Given the description of an element on the screen output the (x, y) to click on. 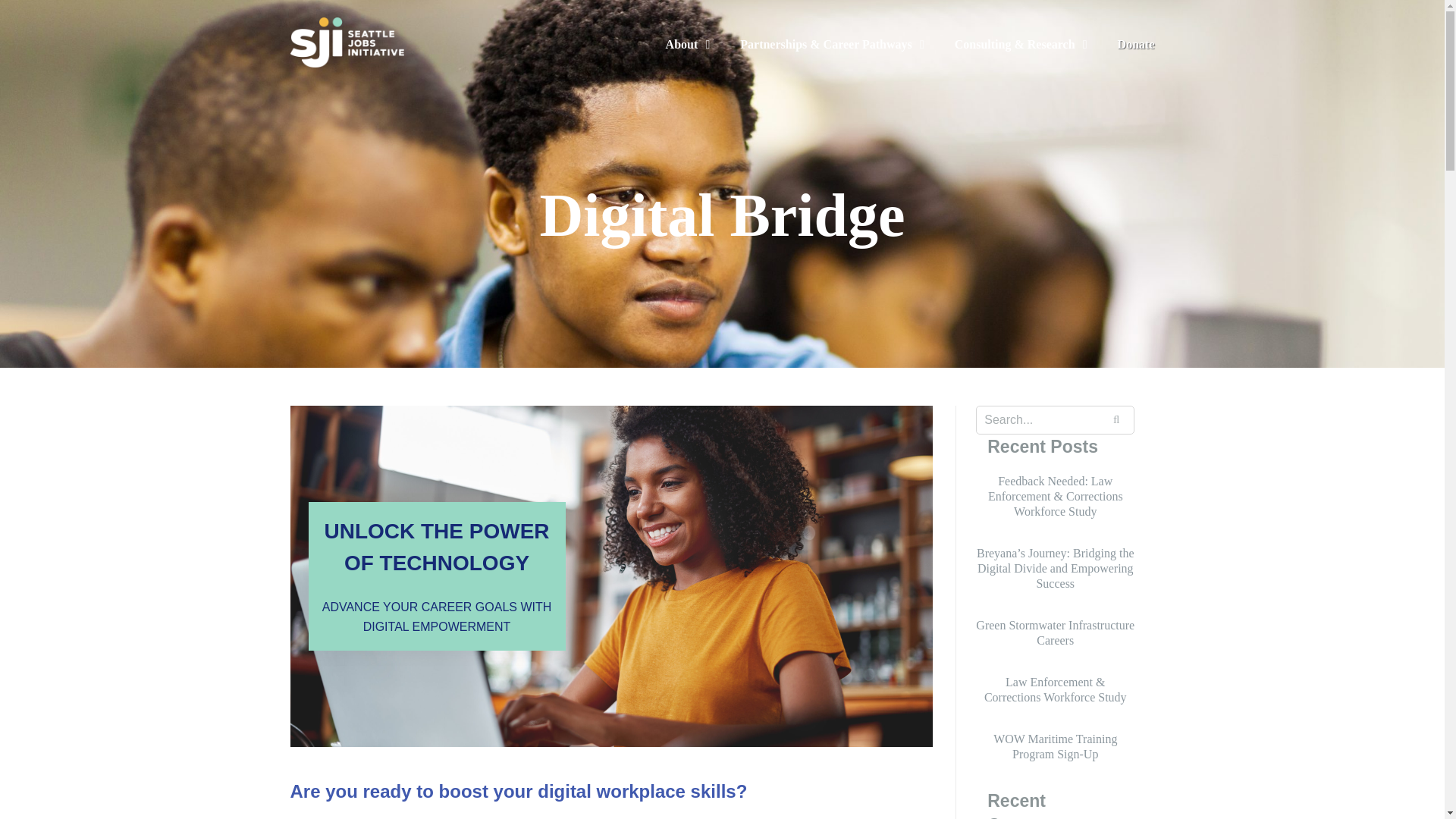
Search for: (1054, 419)
About (687, 44)
Donate (1136, 43)
Seattle Jobs Initiative (346, 41)
